Given the description of an element on the screen output the (x, y) to click on. 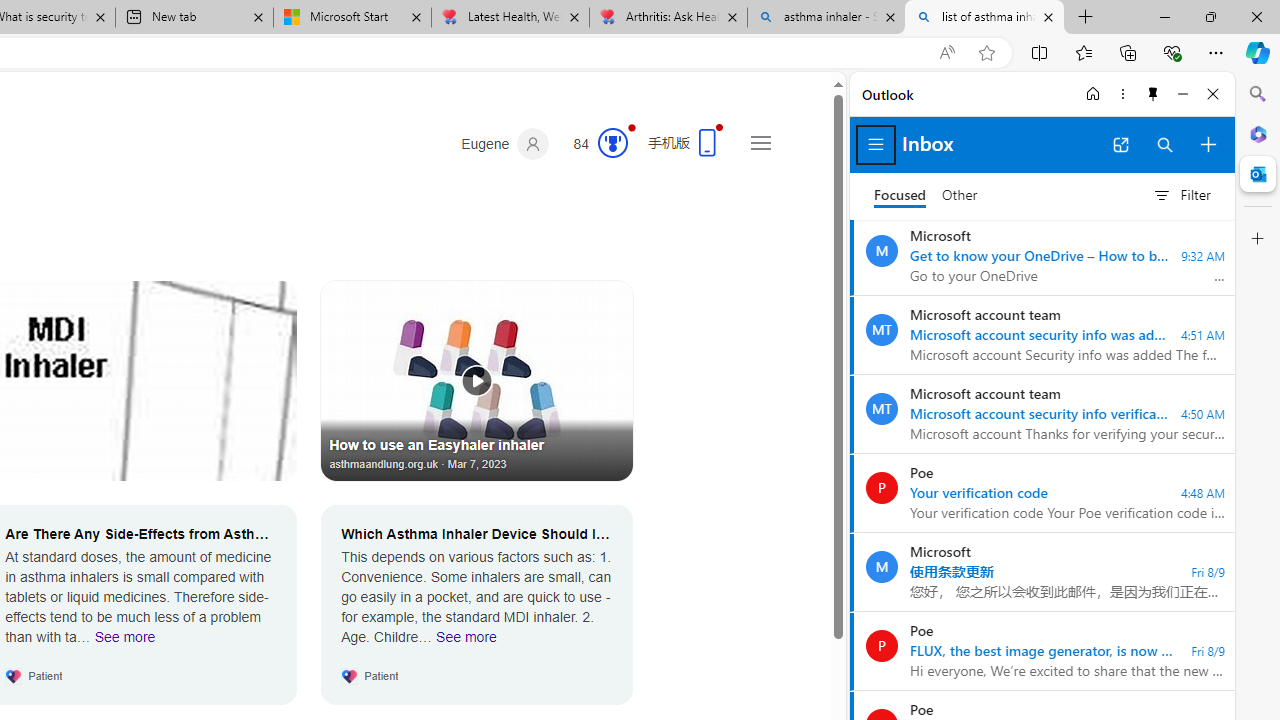
AutomationID: rh_meter (612, 142)
Compose new mail (1208, 144)
asthma inhaler - Search (825, 17)
Other (959, 195)
Eugene (505, 143)
Animation (632, 127)
